Given the description of an element on the screen output the (x, y) to click on. 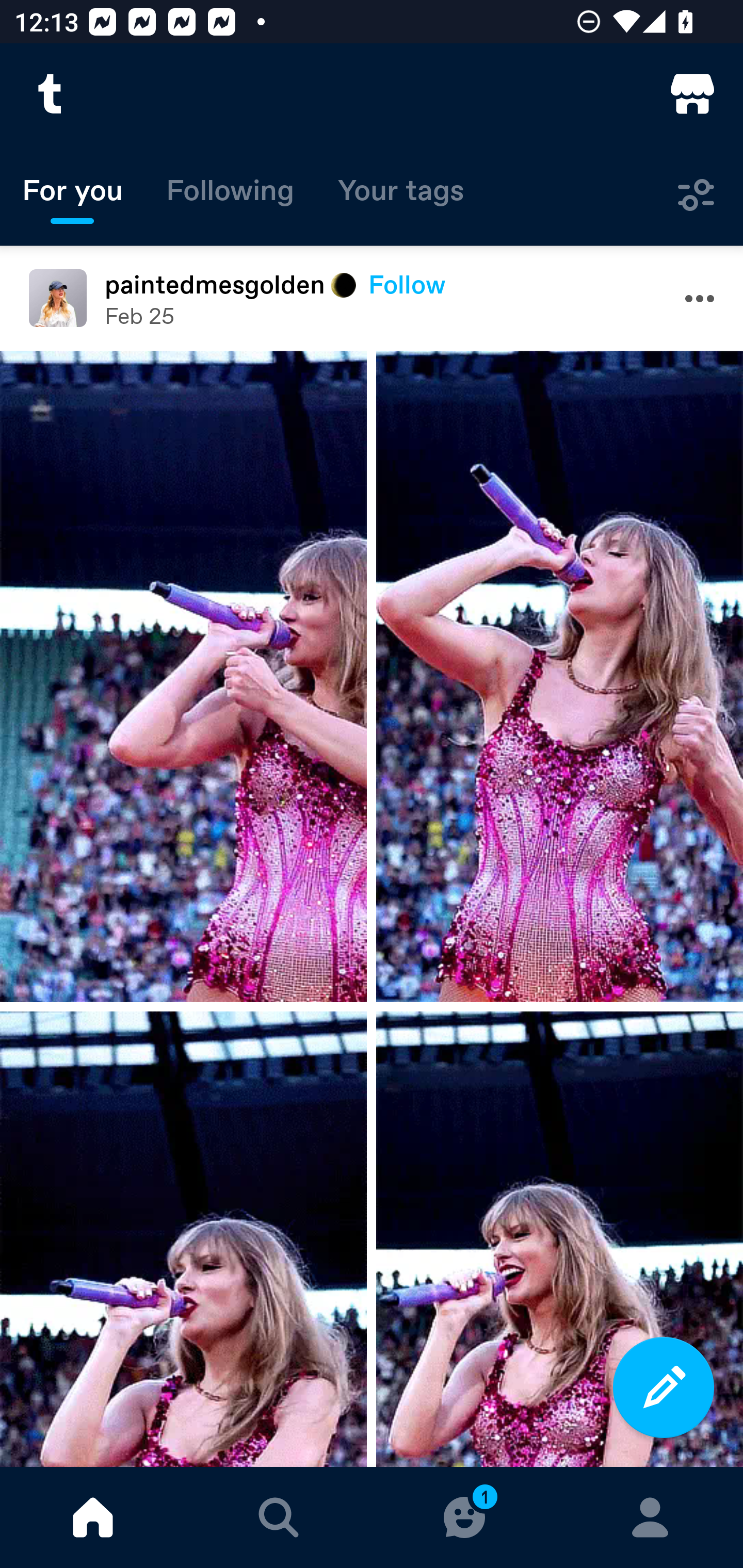
Tumblr (50, 93)
TumblrMart (692, 94)
Following (230, 195)
Your tags (400, 195)
Follow (406, 283)
Compose a new post (663, 1387)
DASHBOARD (92, 1517)
EXPLORE (278, 1517)
MESSAGES 1 (464, 1517)
ACCOUNT (650, 1517)
